Given the description of an element on the screen output the (x, y) to click on. 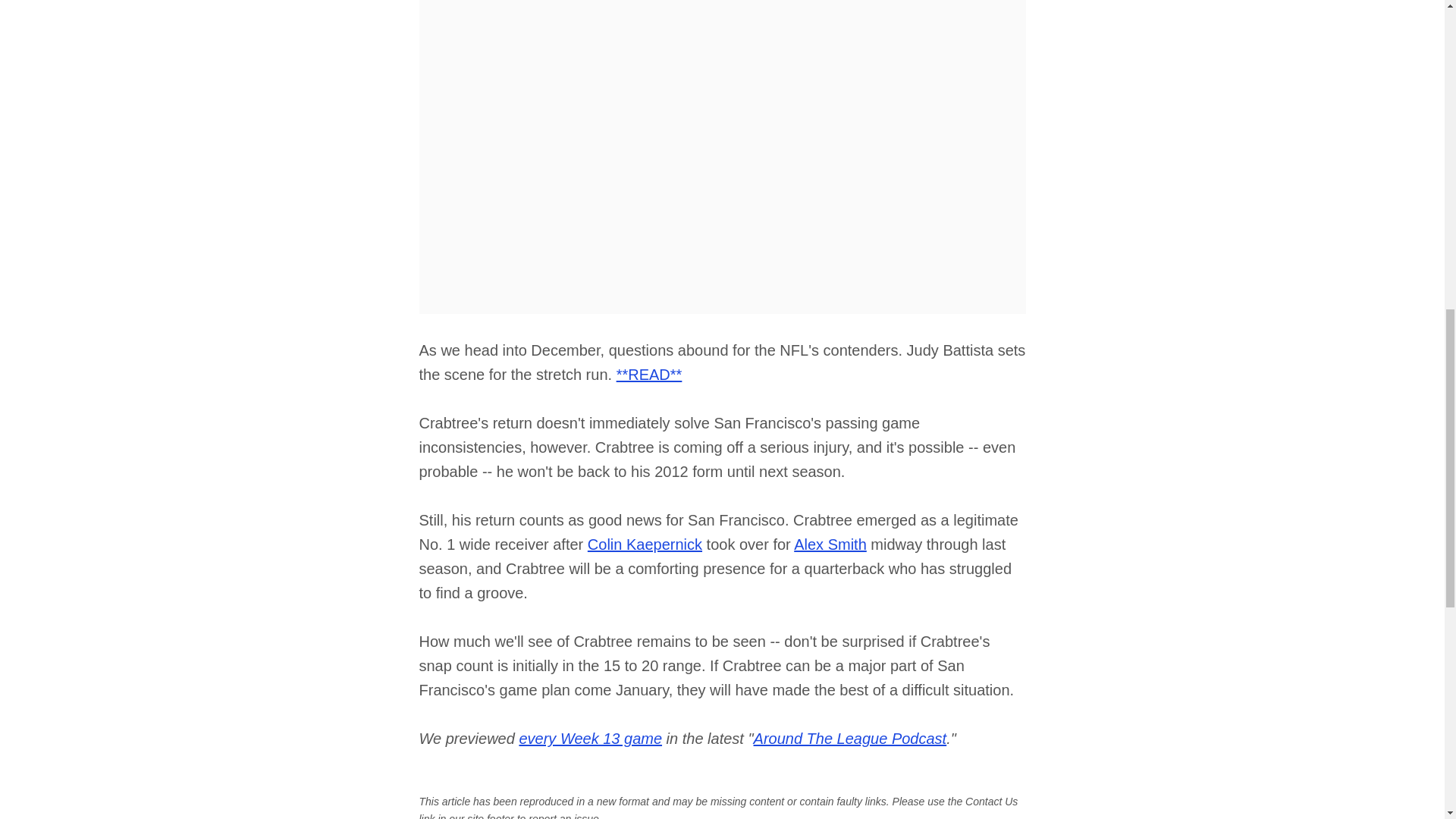
Colin Kaepernick (644, 544)
Around The League Podcast (850, 738)
Alex Smith (829, 544)
every Week 13 game (590, 738)
